Given the description of an element on the screen output the (x, y) to click on. 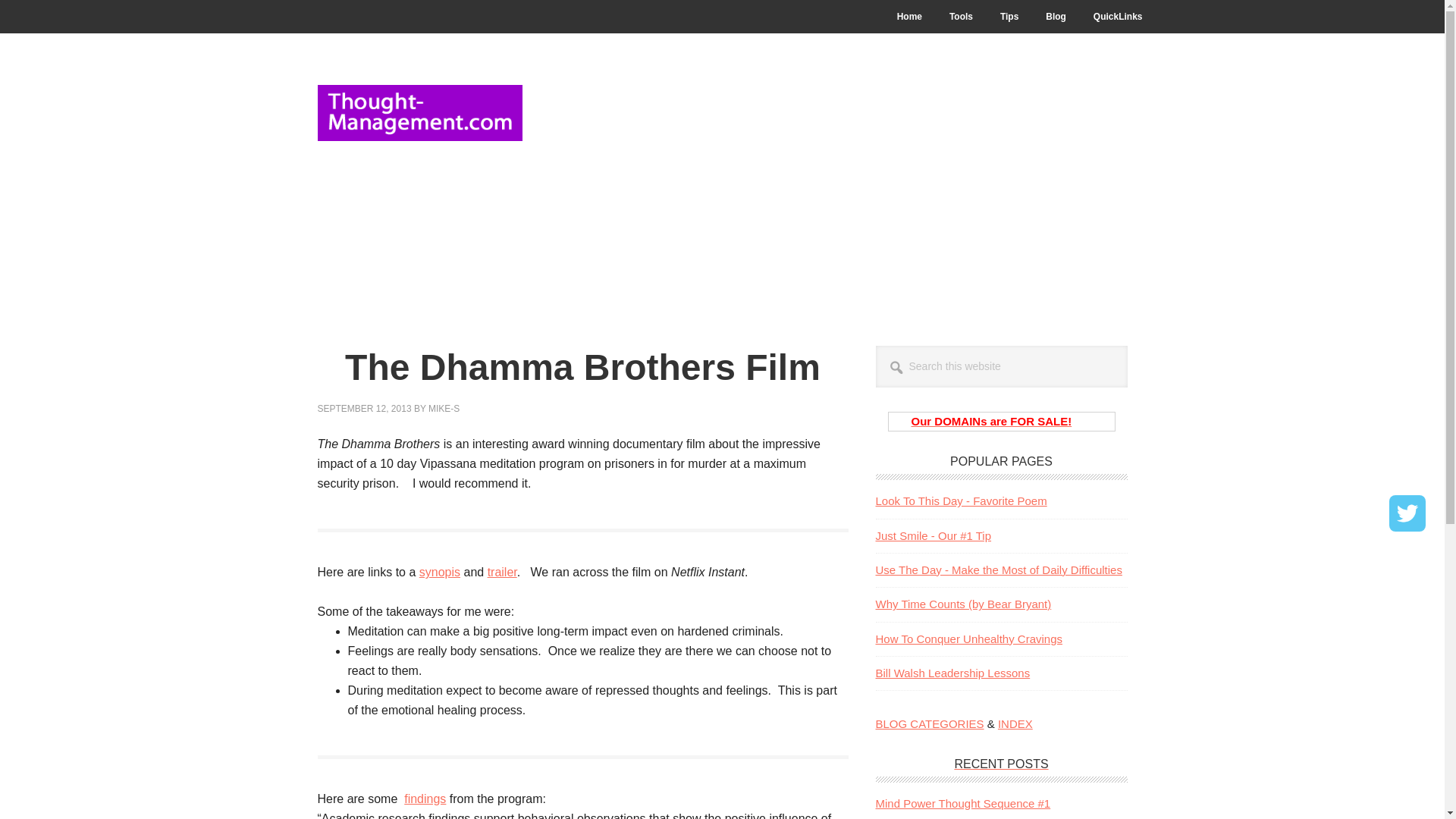
Movie trailer (501, 571)
synopis (439, 571)
THOUGHT-MANAGEMENT.COM (419, 115)
Blog (1055, 16)
Our DOMAINs are FOR SALE! (991, 420)
Tips (1009, 16)
Synopsis (439, 571)
How To Conquer Unhealthy Cravings (968, 638)
Bill Walsh Leadership Lessons (952, 672)
research findings (424, 798)
